Given the description of an element on the screen output the (x, y) to click on. 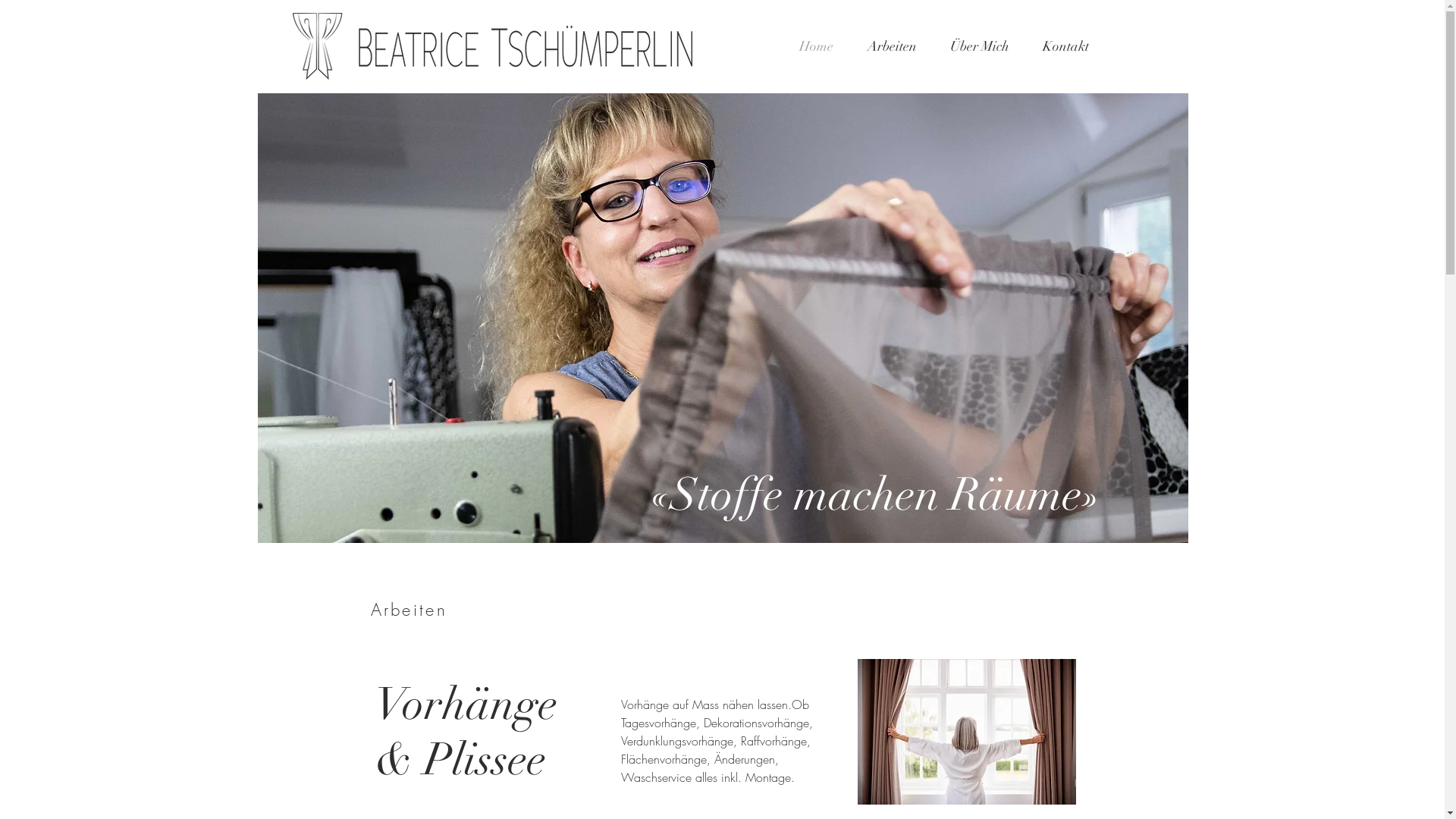
Mehr Element type: hover (966, 731)
Home Element type: text (816, 46)
Webseite Logo.png Element type: hover (492, 45)
Arbeiten Element type: text (891, 46)
Kontakt Element type: text (1064, 46)
